Given the description of an element on the screen output the (x, y) to click on. 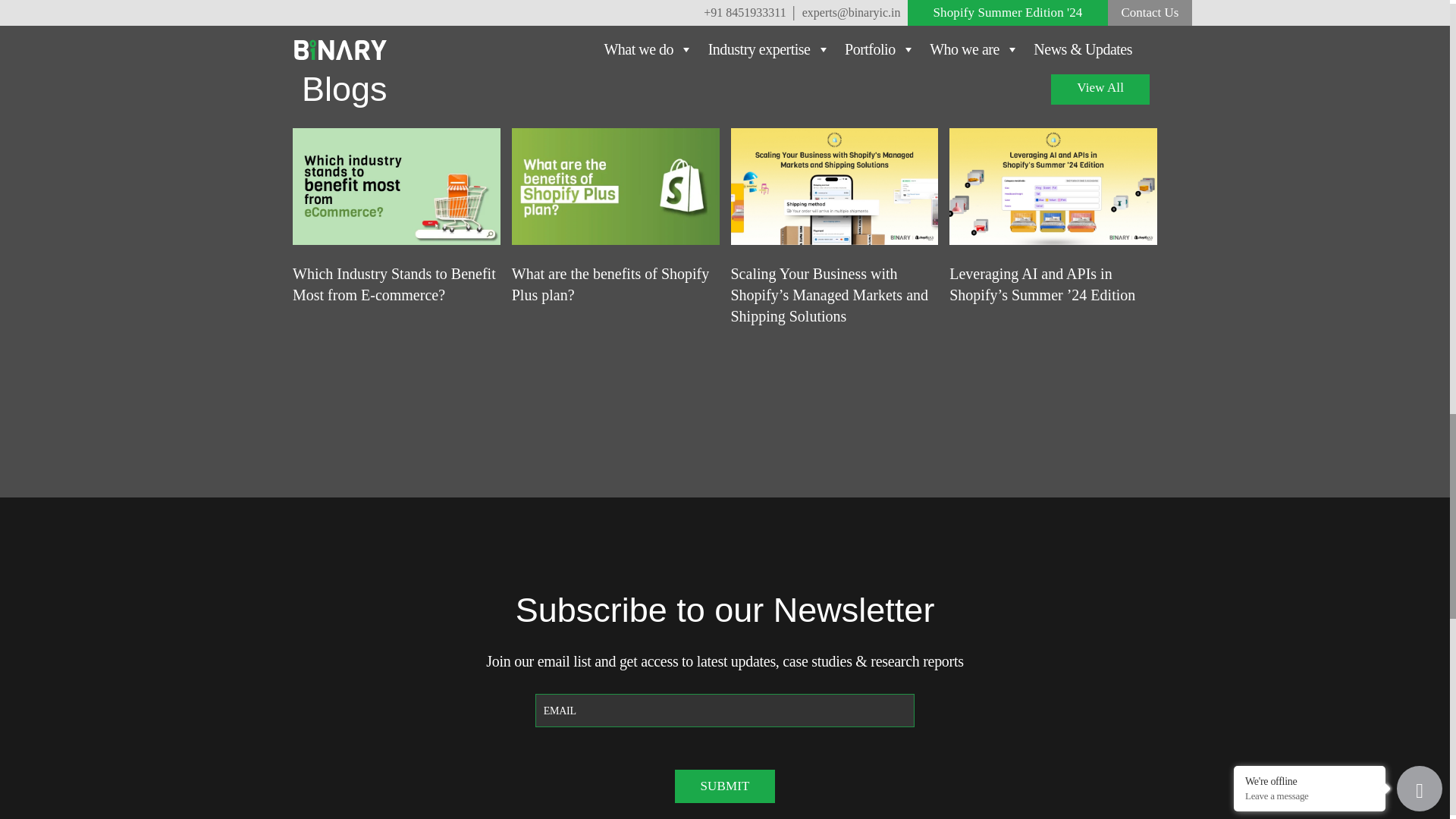
Submit (725, 786)
Which Industry Stands to Benefit Most from E-commerce? (396, 185)
Blogs (724, 99)
Submit (725, 786)
View all (1100, 87)
What are the benefits of Shopify Plus plan? (615, 185)
